Given the description of an element on the screen output the (x, y) to click on. 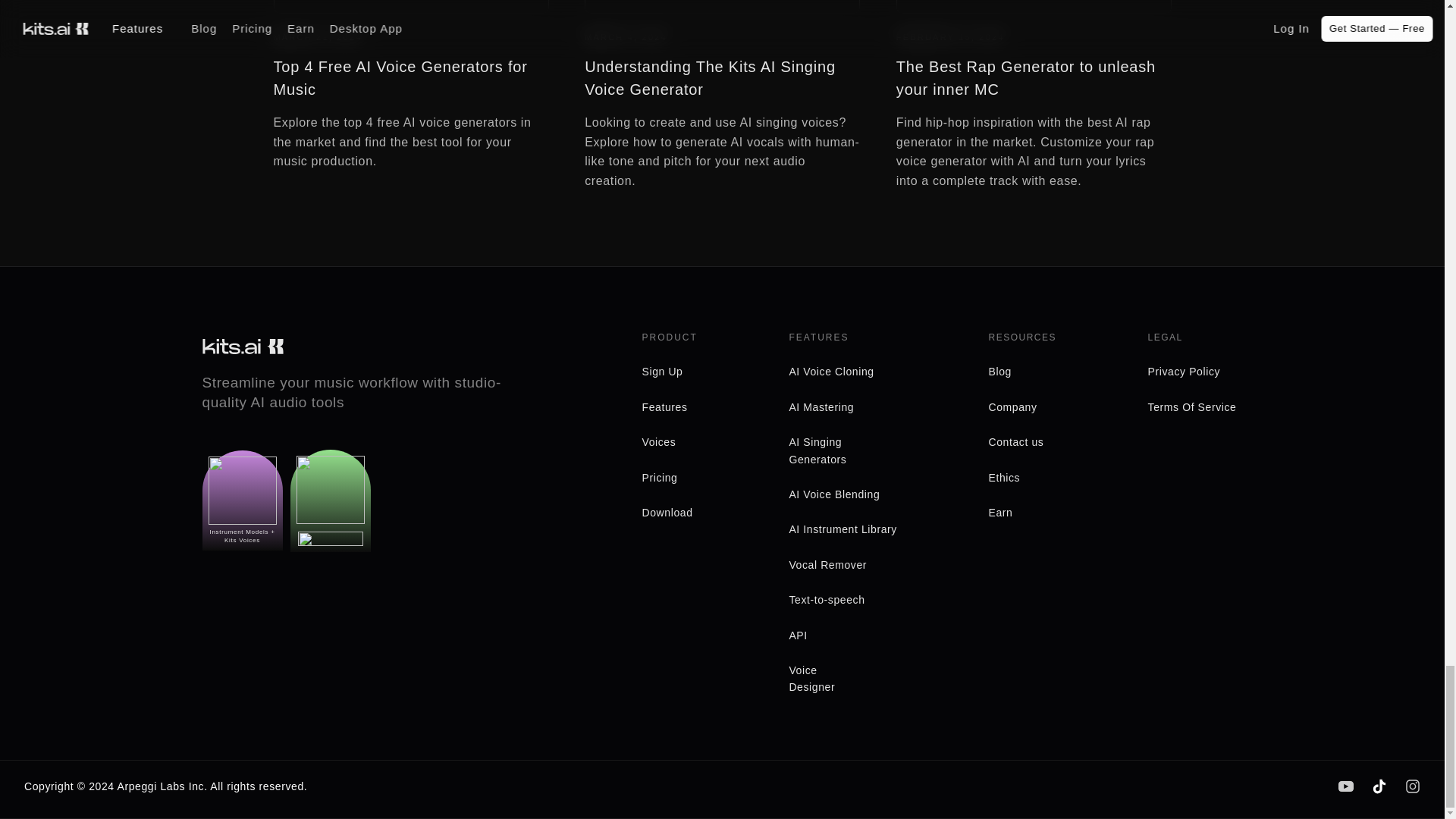
Sign Up (662, 371)
AI Voice Cloning (831, 371)
Voices (658, 441)
Pricing (659, 477)
Features (664, 407)
Download (667, 512)
AI Mastering (821, 407)
